Given the description of an element on the screen output the (x, y) to click on. 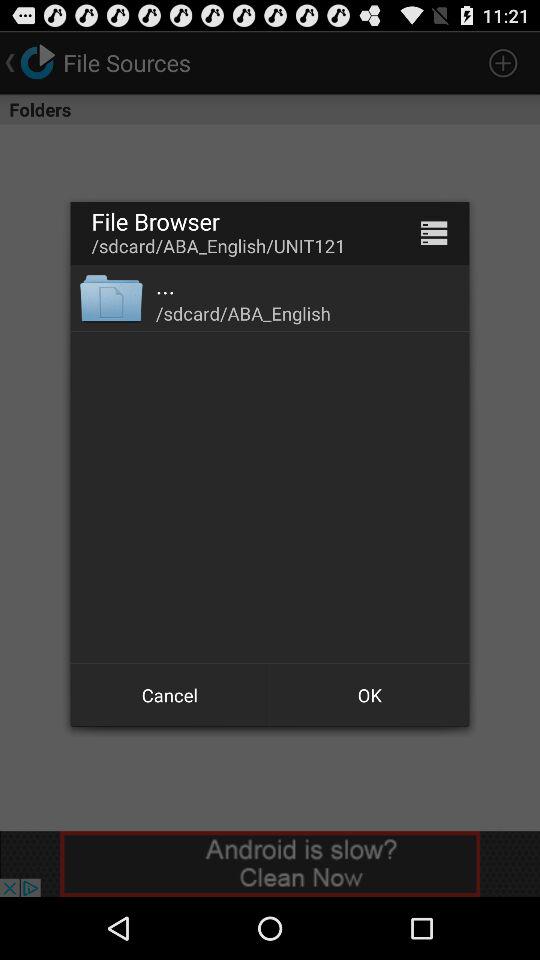
list files (433, 232)
